Given the description of an element on the screen output the (x, y) to click on. 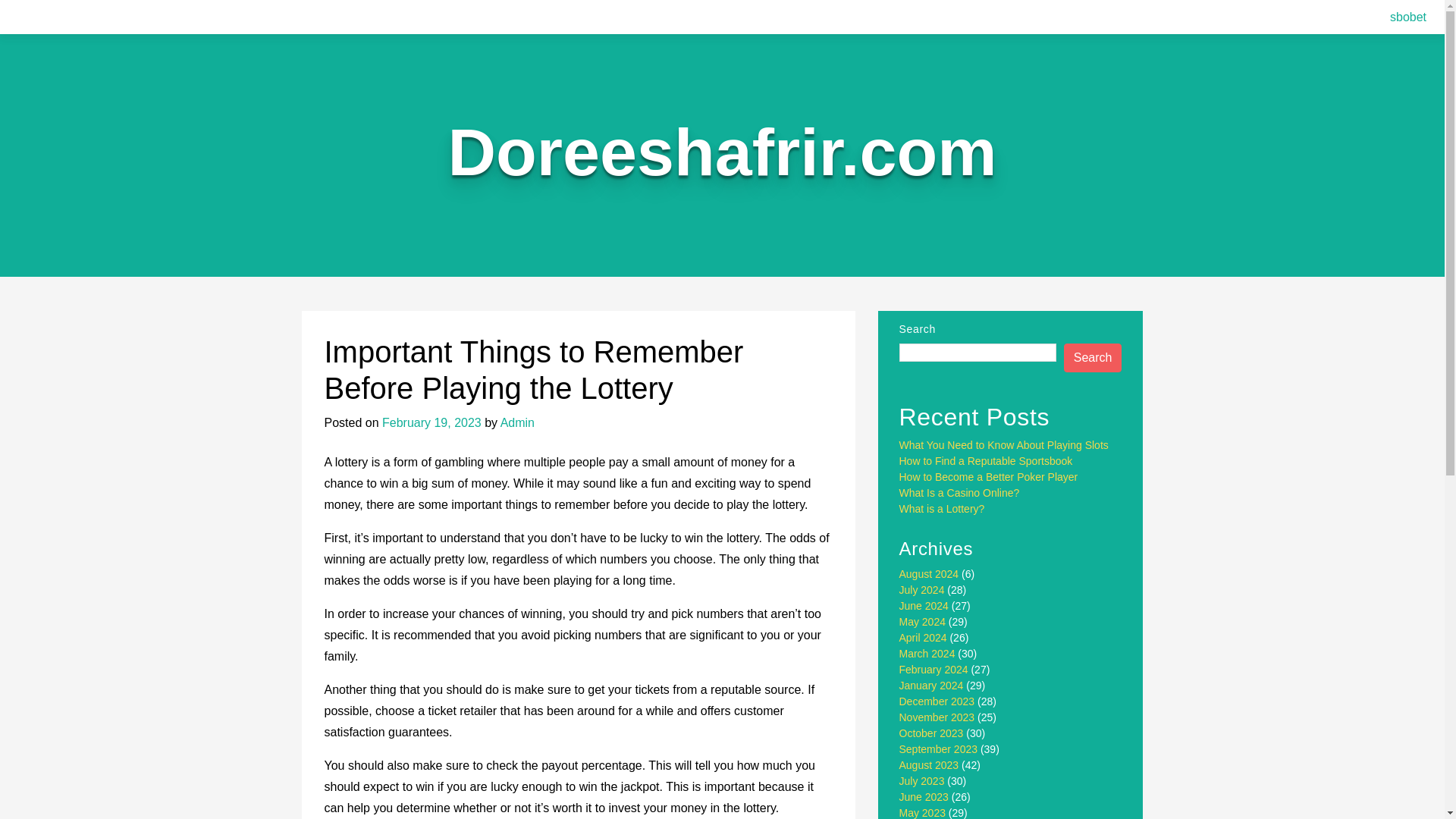
July 2023 (921, 780)
August 2023 (929, 765)
October 2023 (931, 733)
Admin (517, 422)
sbobet (1408, 16)
How to Become a Better Poker Player (988, 476)
April 2024 (923, 637)
February 2024 (933, 669)
May 2024 (921, 621)
How to Find a Reputable Sportsbook (986, 460)
